Given the description of an element on the screen output the (x, y) to click on. 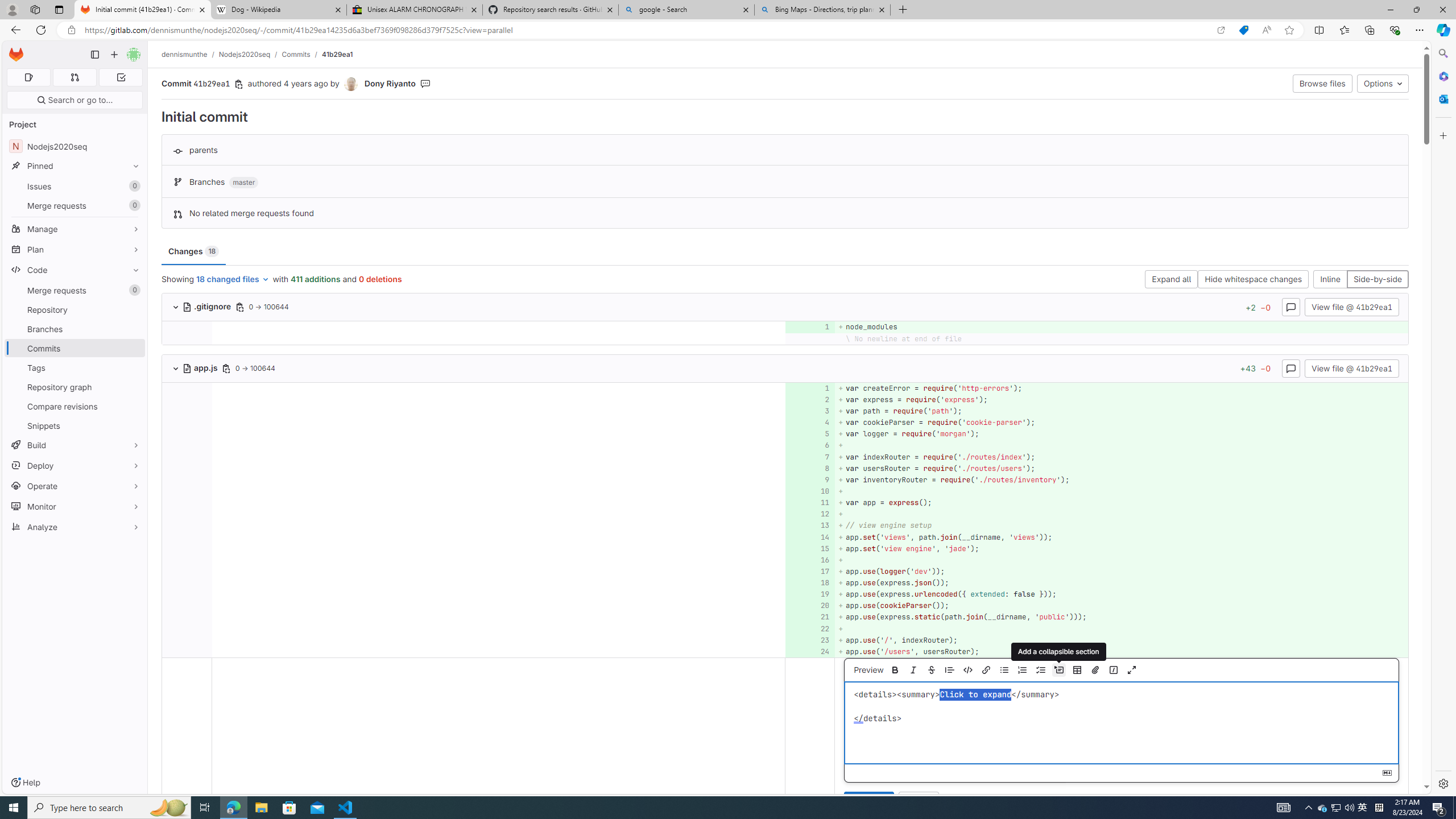
master (243, 182)
+ app.use('/users', usersRouter);  (1120, 651)
+ app.use(express.json());  (1120, 582)
Add a comment to this line 9 (809, 479)
Pinned (74, 165)
Pin Commits (132, 348)
Class: div-dropzone-icon s24 (1119, 722)
Add a comment to this line 1 (809, 387)
Changes 18 (193, 251)
N Nodejs2020seq (74, 145)
Class: line_holder parallel (784, 651)
Add a comment to this line 23 (809, 639)
21 (808, 617)
Branches (74, 328)
